Given the description of an element on the screen output the (x, y) to click on. 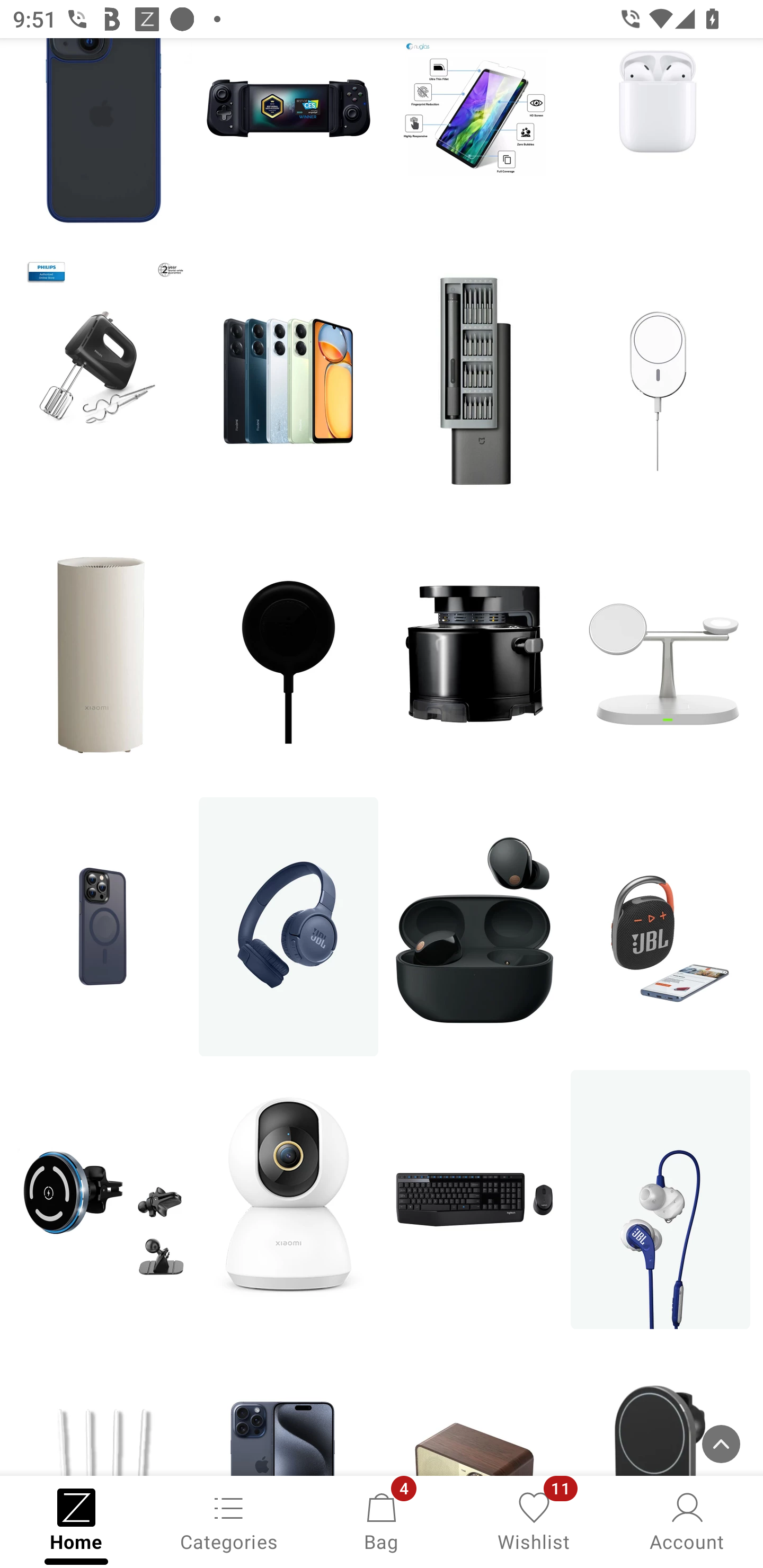
Categories (228, 1519)
Bag, 4 new notifications Bag (381, 1519)
Wishlist, 11 new notifications Wishlist (533, 1519)
Account (686, 1519)
